Given the description of an element on the screen output the (x, y) to click on. 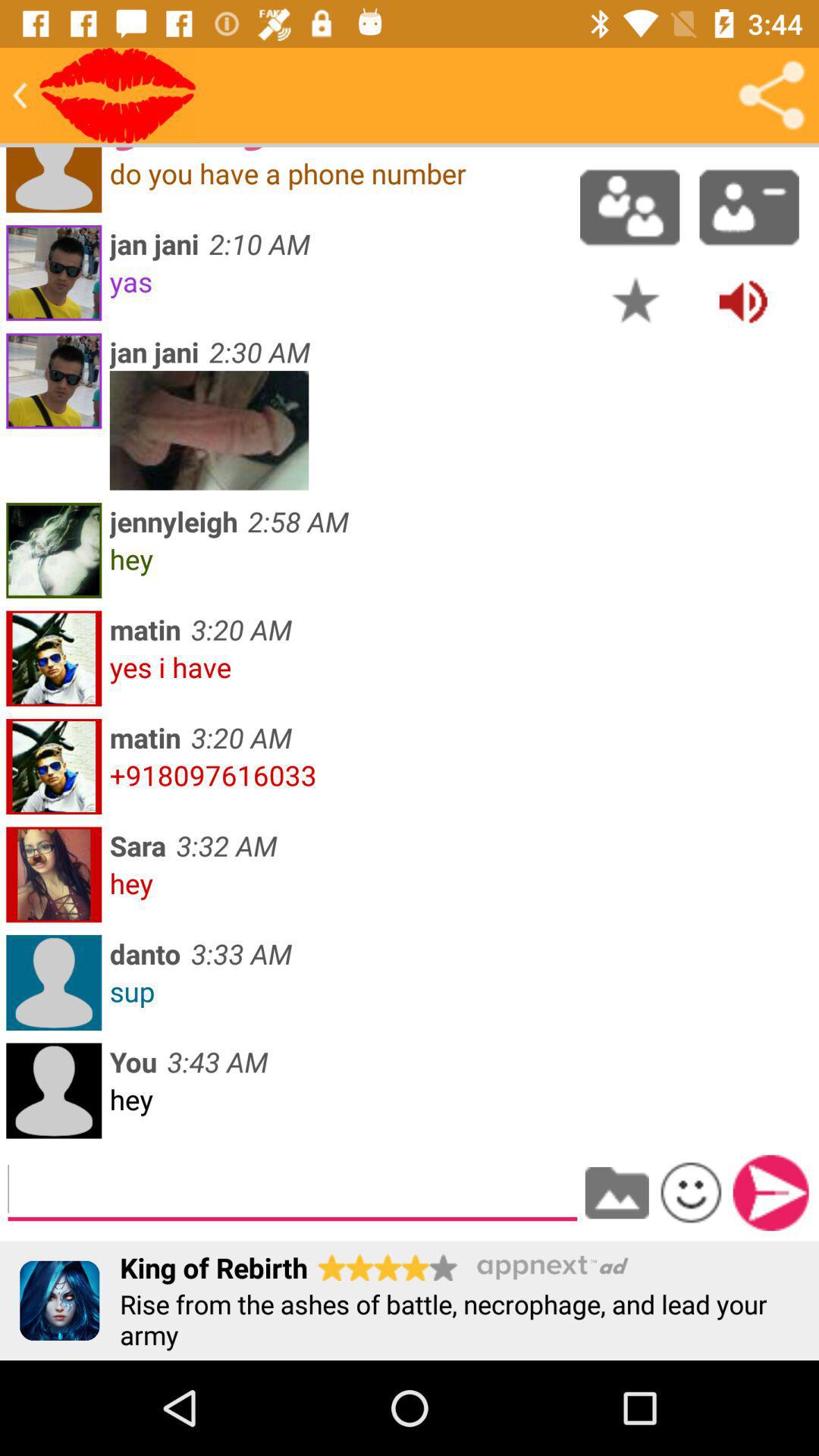
lose group chat member (749, 207)
